Given the description of an element on the screen output the (x, y) to click on. 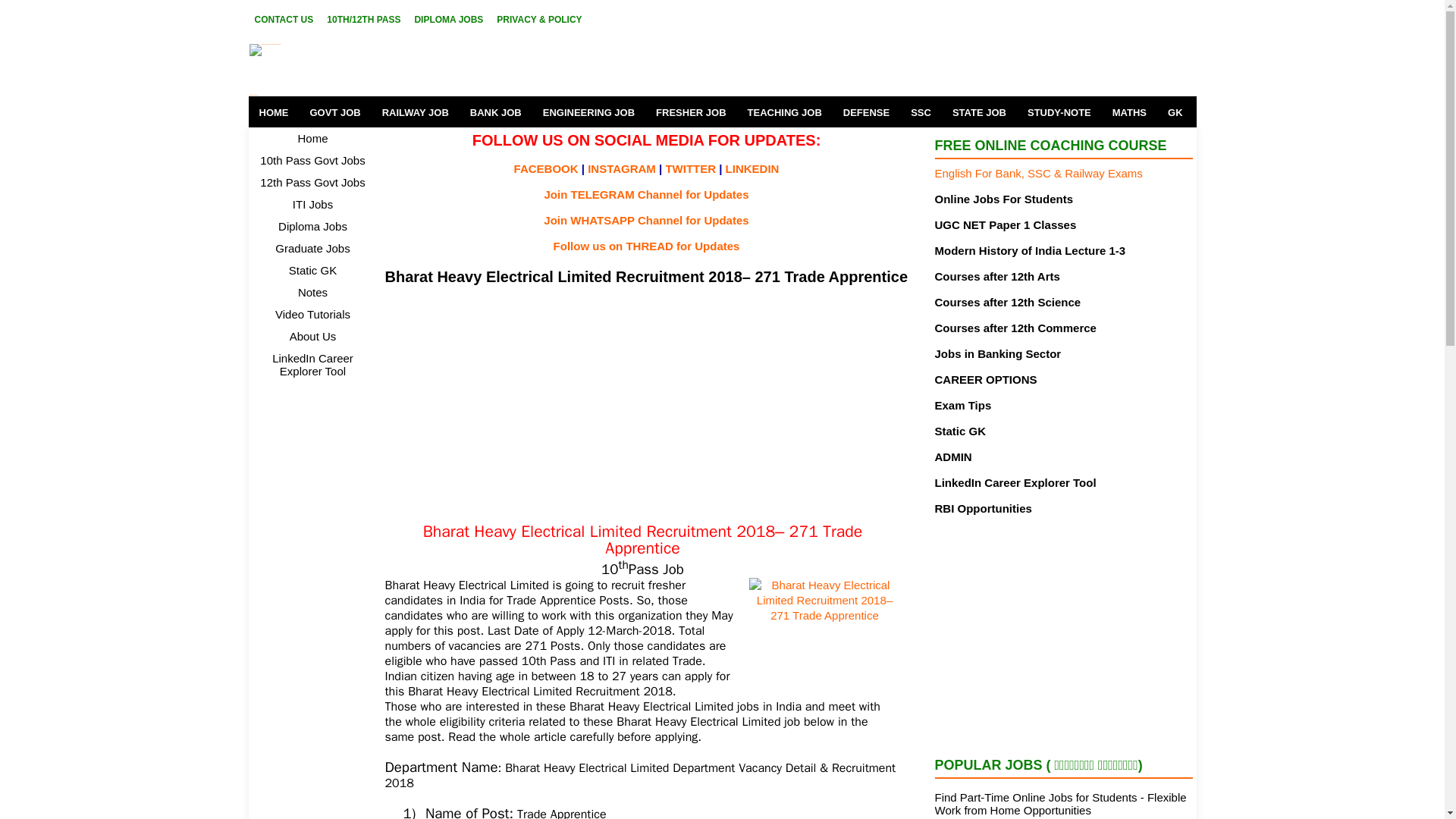
FRESHER JOB (690, 111)
ENGINEERING JOB (588, 111)
RAILWAY JOB (415, 111)
TEACHING JOB (784, 111)
DEFENSE (865, 111)
STUDY-NOTE (1059, 111)
HOME (273, 111)
GOVT JOB (334, 111)
SSC (920, 111)
STATE JOB (979, 111)
CONTACT US (284, 19)
DIPLOMA JOBS (448, 19)
Government Jobs in India (390, 69)
BANK JOB (496, 111)
